Given the description of an element on the screen output the (x, y) to click on. 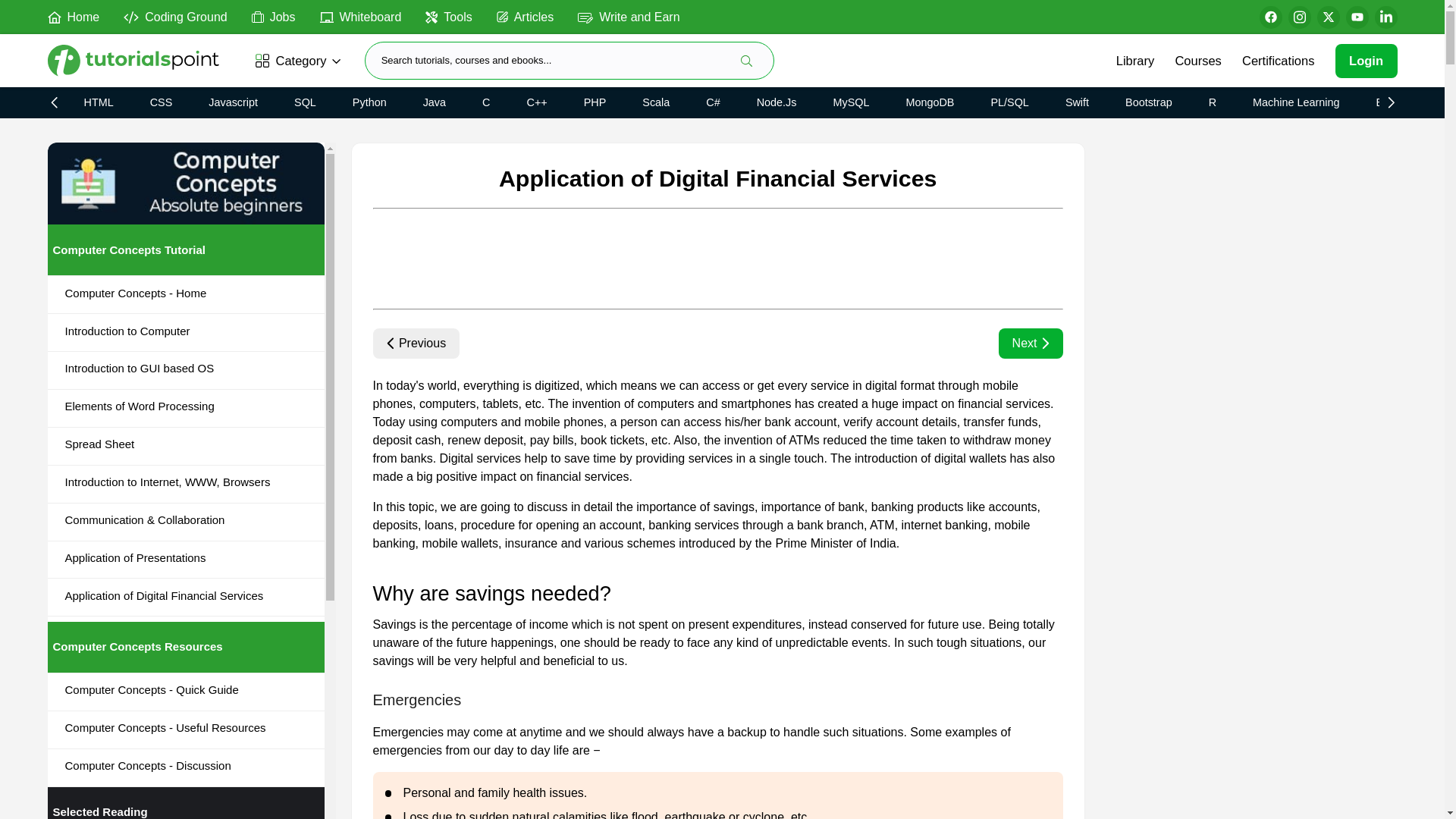
Subscribe to our Youtube Channel (1356, 16)
Follow on Twitter (1327, 16)
Jobs (273, 16)
Tutorialspoint (138, 60)
Home (72, 16)
Follow on Facebook (1270, 16)
Articles (524, 16)
Write and Earn (628, 16)
Follow on LinkedIn (1385, 16)
Articles (524, 16)
